Given the description of an element on the screen output the (x, y) to click on. 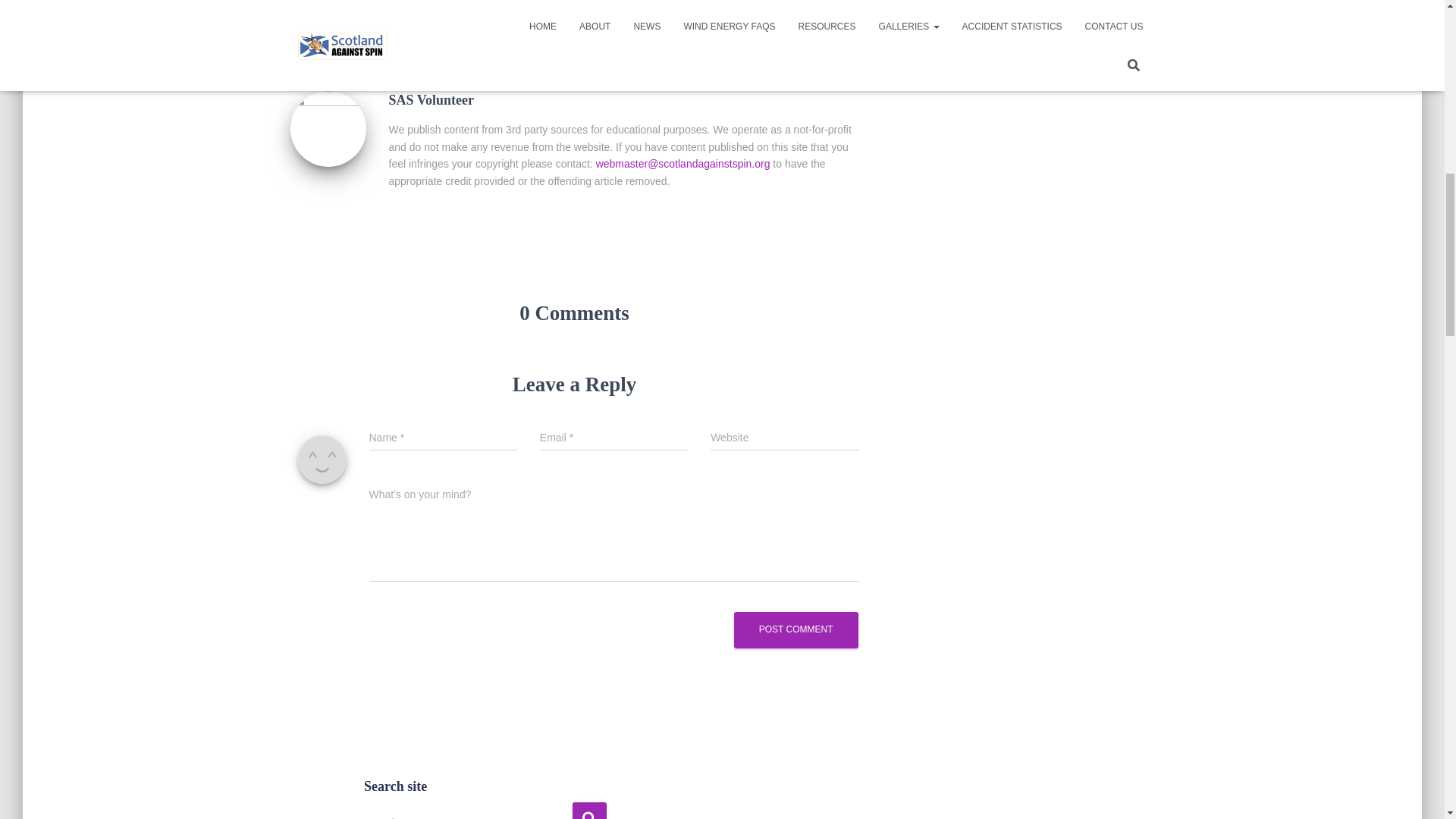
Search (589, 810)
Search (589, 810)
Post Comment (796, 629)
Search (589, 810)
Post Comment (796, 629)
OTHER NEWS..... (392, 23)
